Given the description of an element on the screen output the (x, y) to click on. 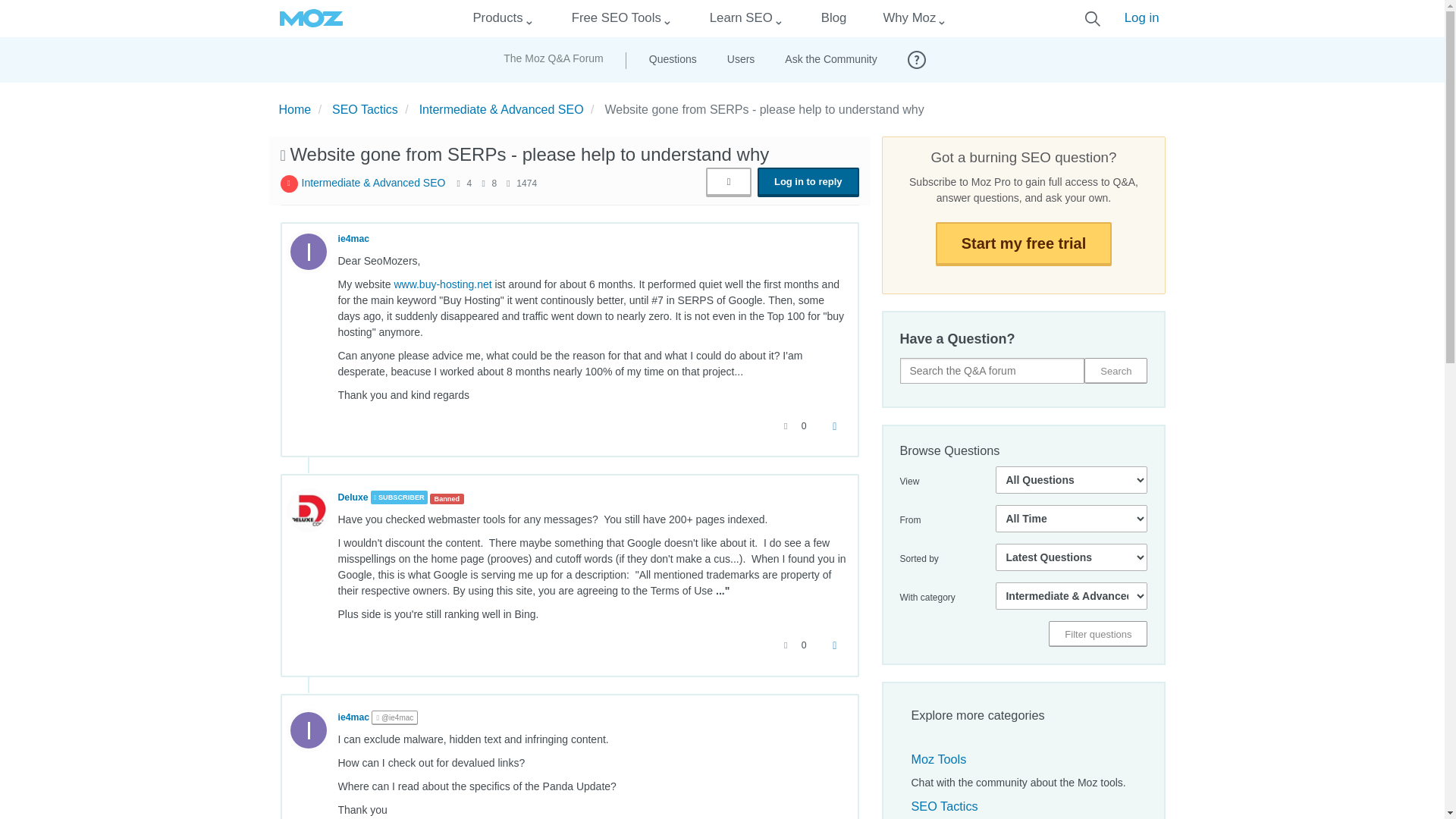
Moz logo (311, 18)
Moz Home (311, 18)
Products (496, 18)
Search (1115, 370)
Filter questions (1097, 633)
Moz logo (311, 18)
